Given the description of an element on the screen output the (x, y) to click on. 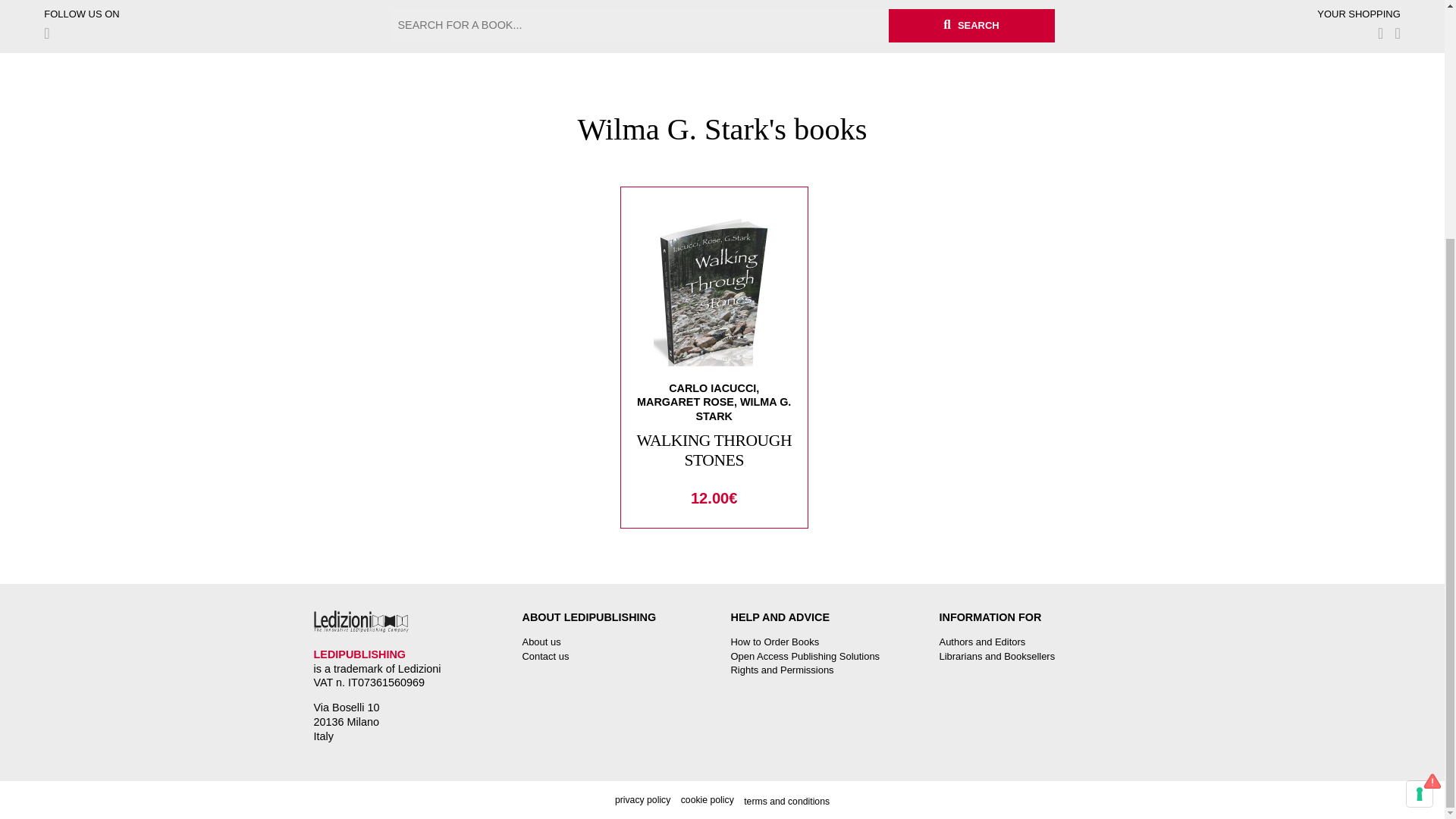
Authors and Editors (982, 641)
About us (540, 641)
Open Access Publishing Solutions (805, 655)
Librarians and Booksellers (996, 655)
Rights and Permissions (782, 669)
privacy policy (641, 799)
terms and conditions (786, 801)
Contact us (545, 655)
How to Order Books (774, 641)
cookie policy (707, 799)
